Given the description of an element on the screen output the (x, y) to click on. 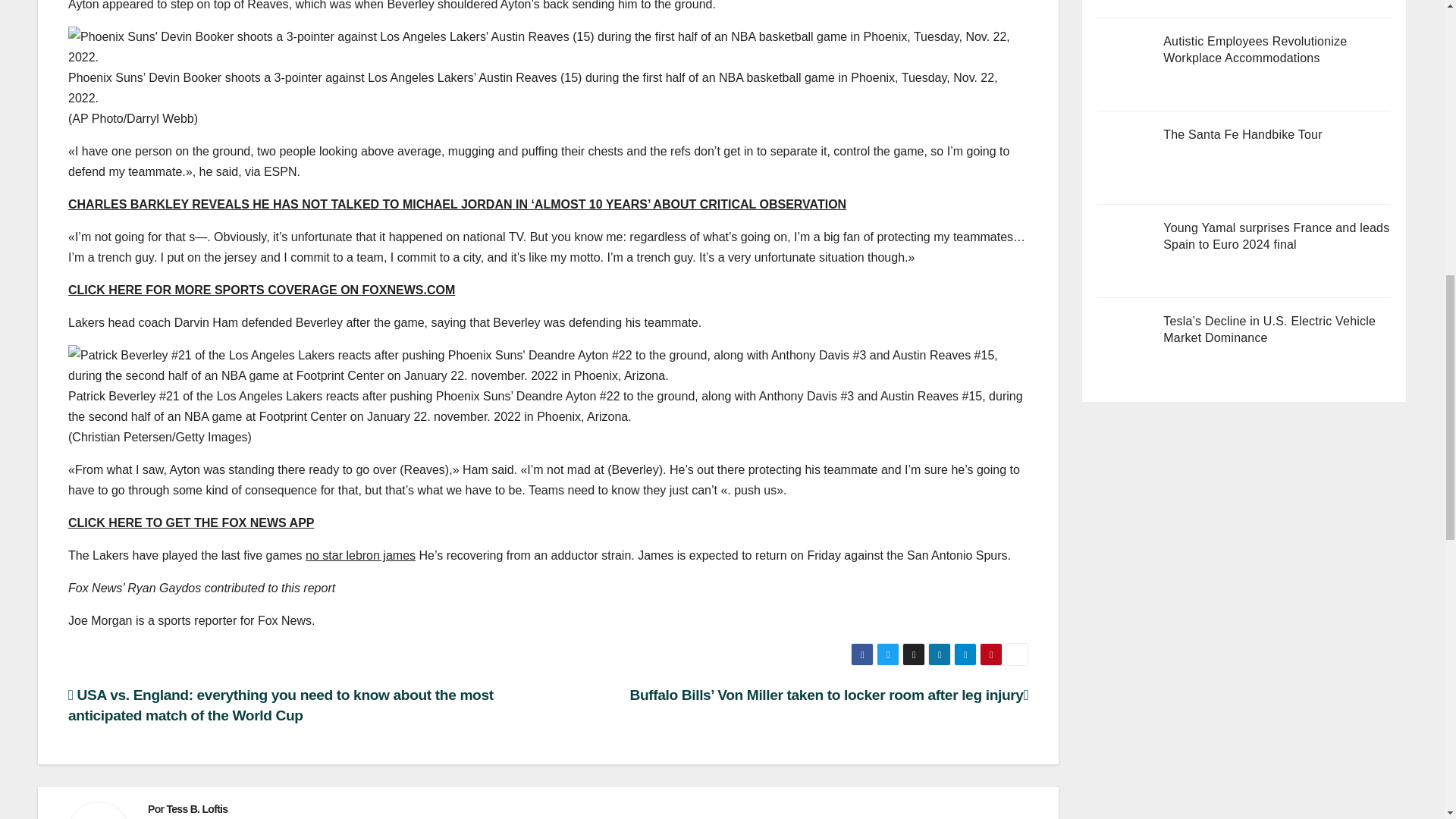
Tess B. Loftis (196, 808)
